Given the description of an element on the screen output the (x, y) to click on. 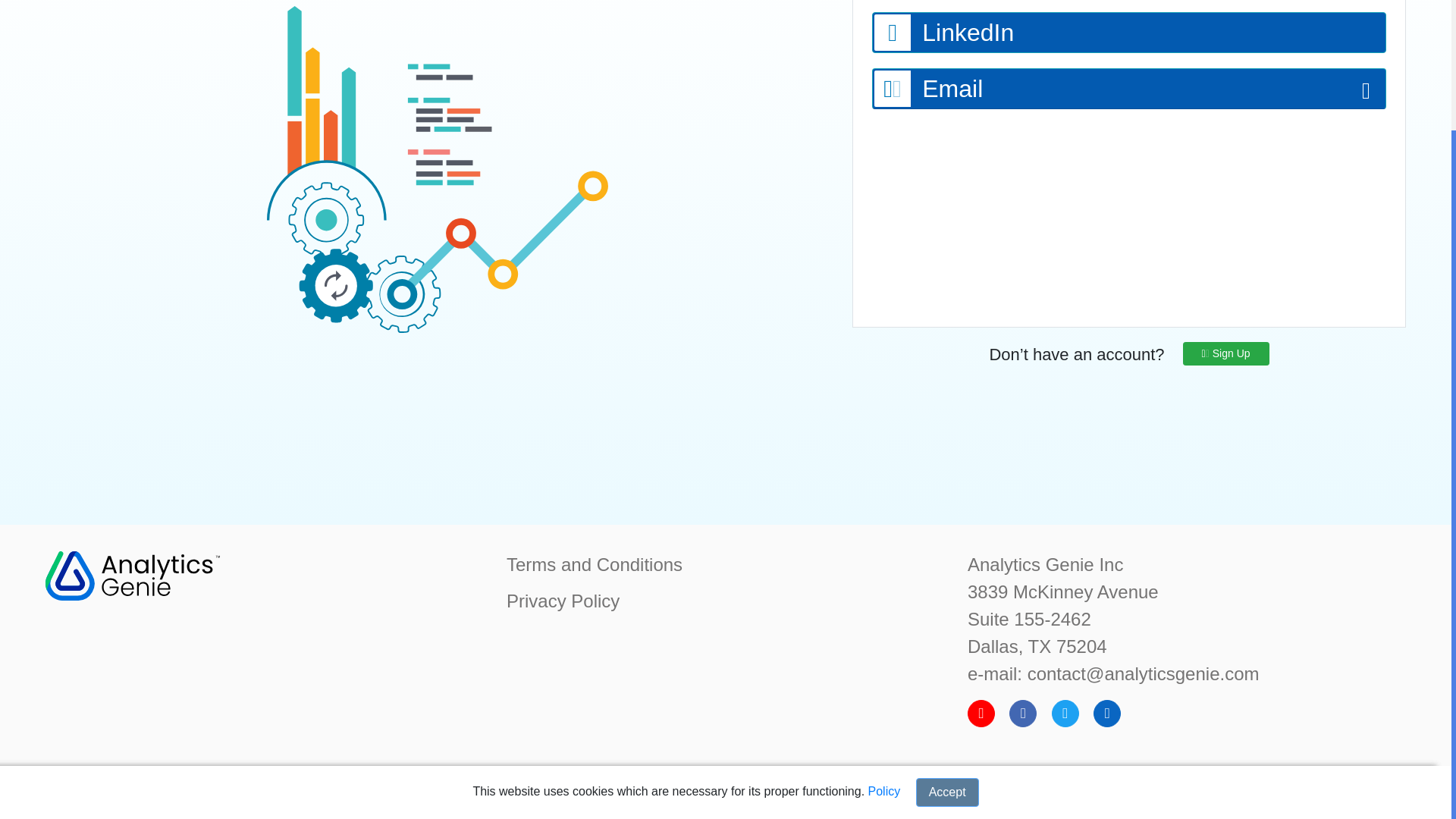
Policy (884, 635)
Email (1129, 88)
Terms and Conditions (594, 564)
Sign Up (1225, 353)
LinkedIn (1129, 32)
Privacy Policy (563, 600)
Accept (946, 637)
